Given the description of an element on the screen output the (x, y) to click on. 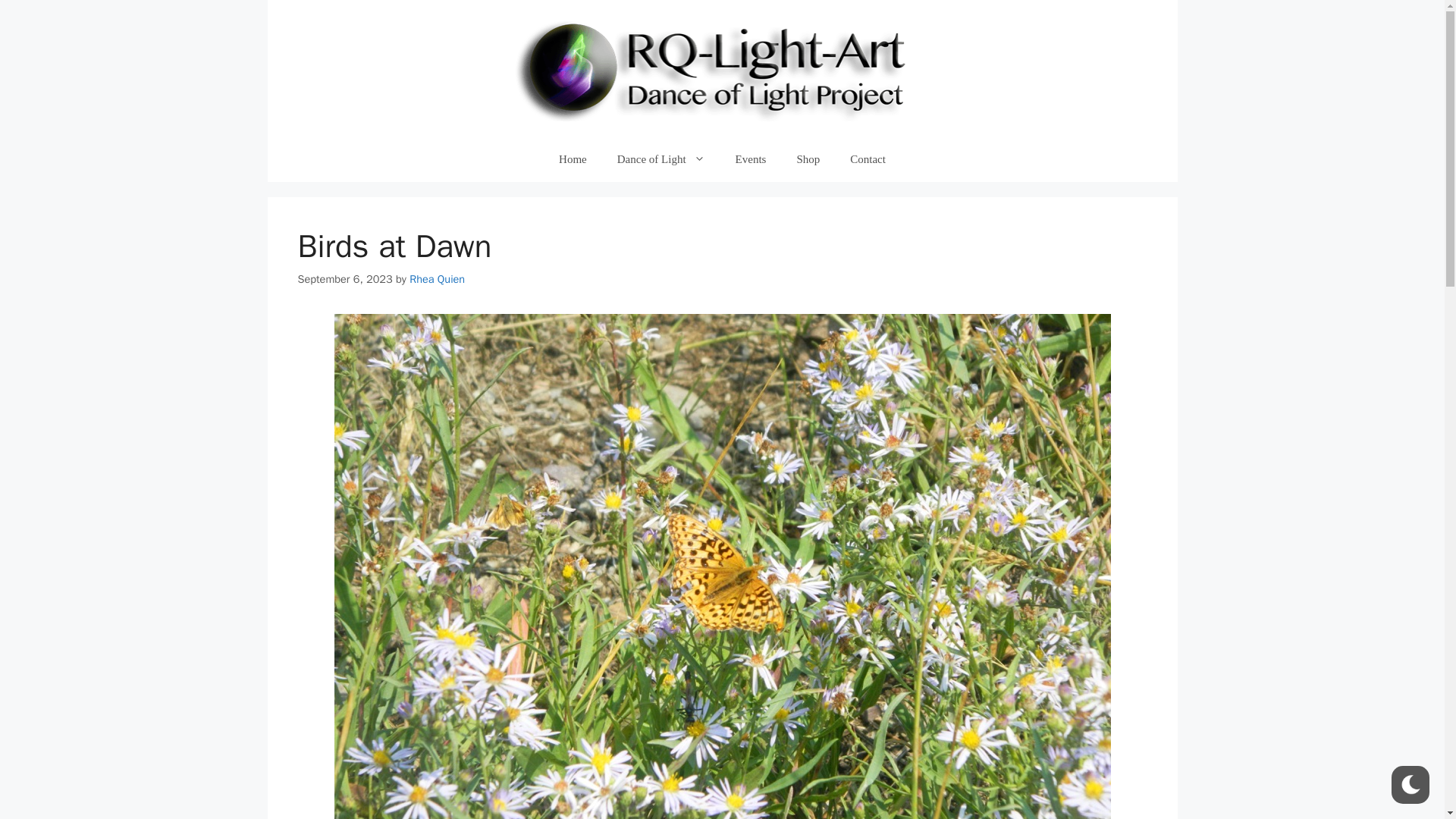
View all posts by Rhea Quien (436, 278)
Contact (867, 158)
Rhea Quien (436, 278)
Home (572, 158)
Shop (807, 158)
Light Art For Nature (722, 66)
Light Art For Nature (722, 68)
Events (750, 158)
Dance of Light (661, 158)
